Given the description of an element on the screen output the (x, y) to click on. 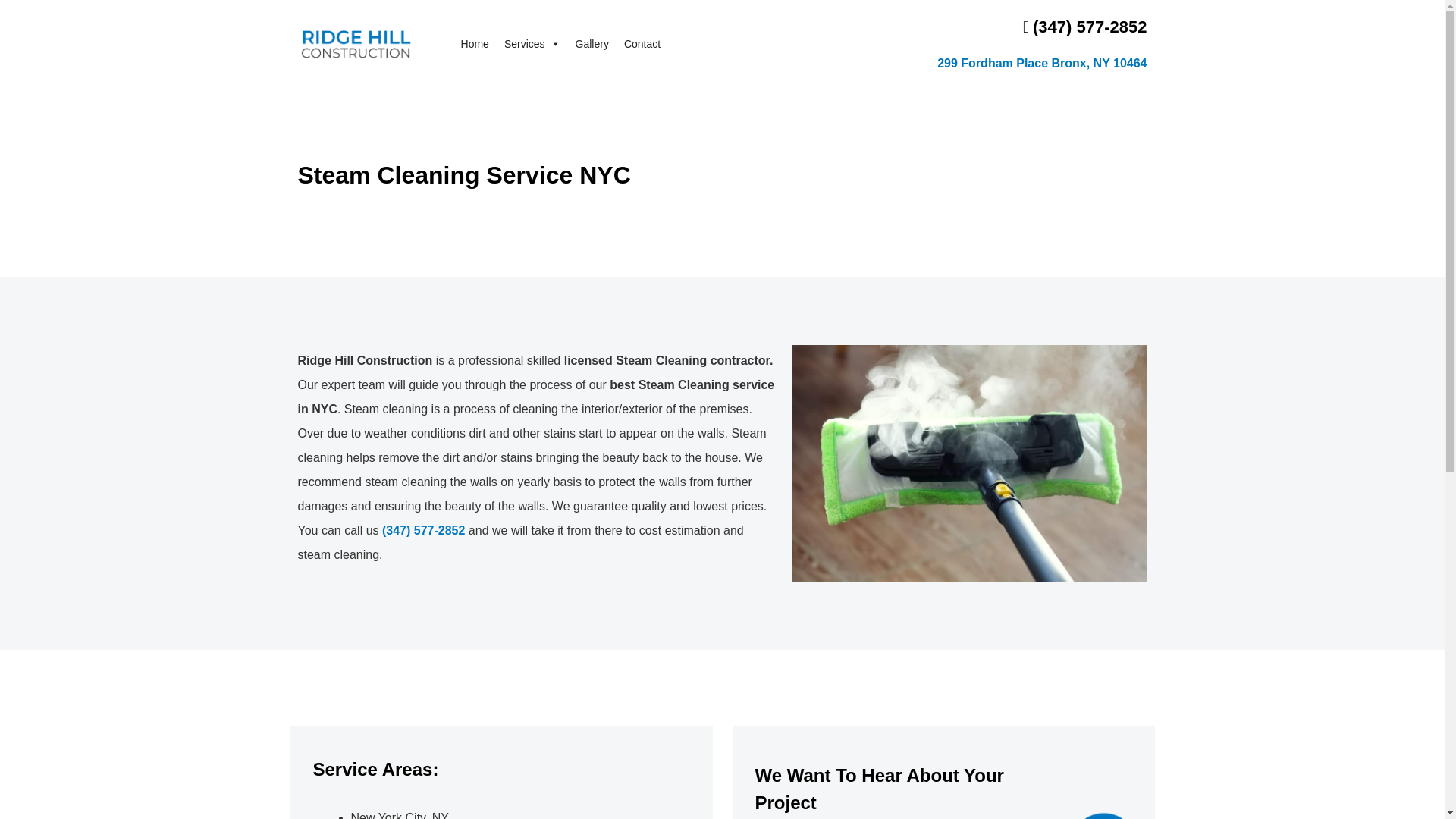
Services (531, 43)
Gallery (591, 43)
Home (474, 43)
299 Fordham Place Bronx, NY 10464 (1017, 63)
Contact (641, 43)
